Given the description of an element on the screen output the (x, y) to click on. 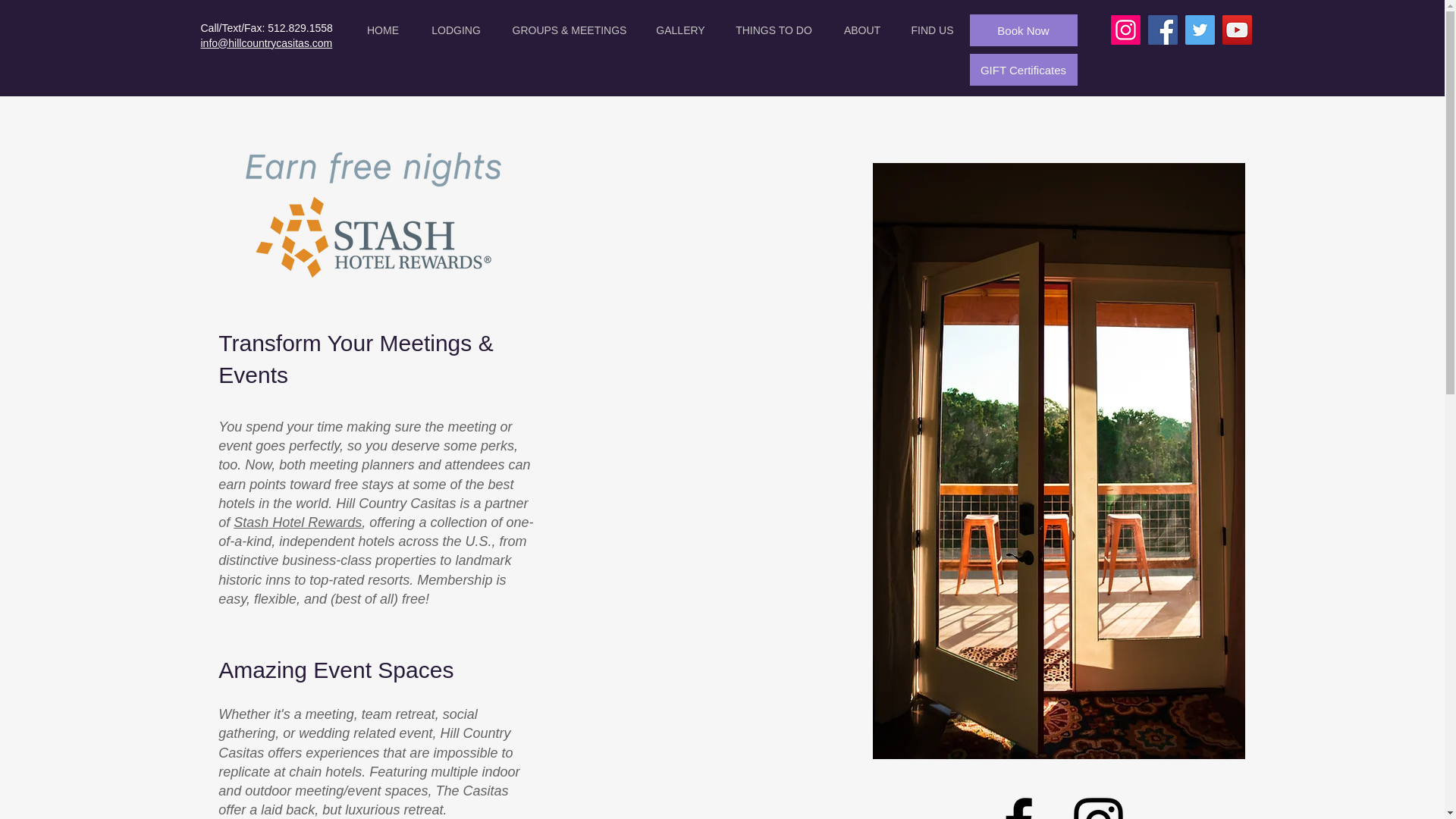
FIND US (932, 29)
THINGS TO DO (773, 29)
Book Now (1023, 29)
LODGING (455, 29)
HOME (382, 29)
ABOUT (861, 29)
GIFT Certificates (1023, 69)
Stash Hotel Rewards (296, 522)
